Given the description of an element on the screen output the (x, y) to click on. 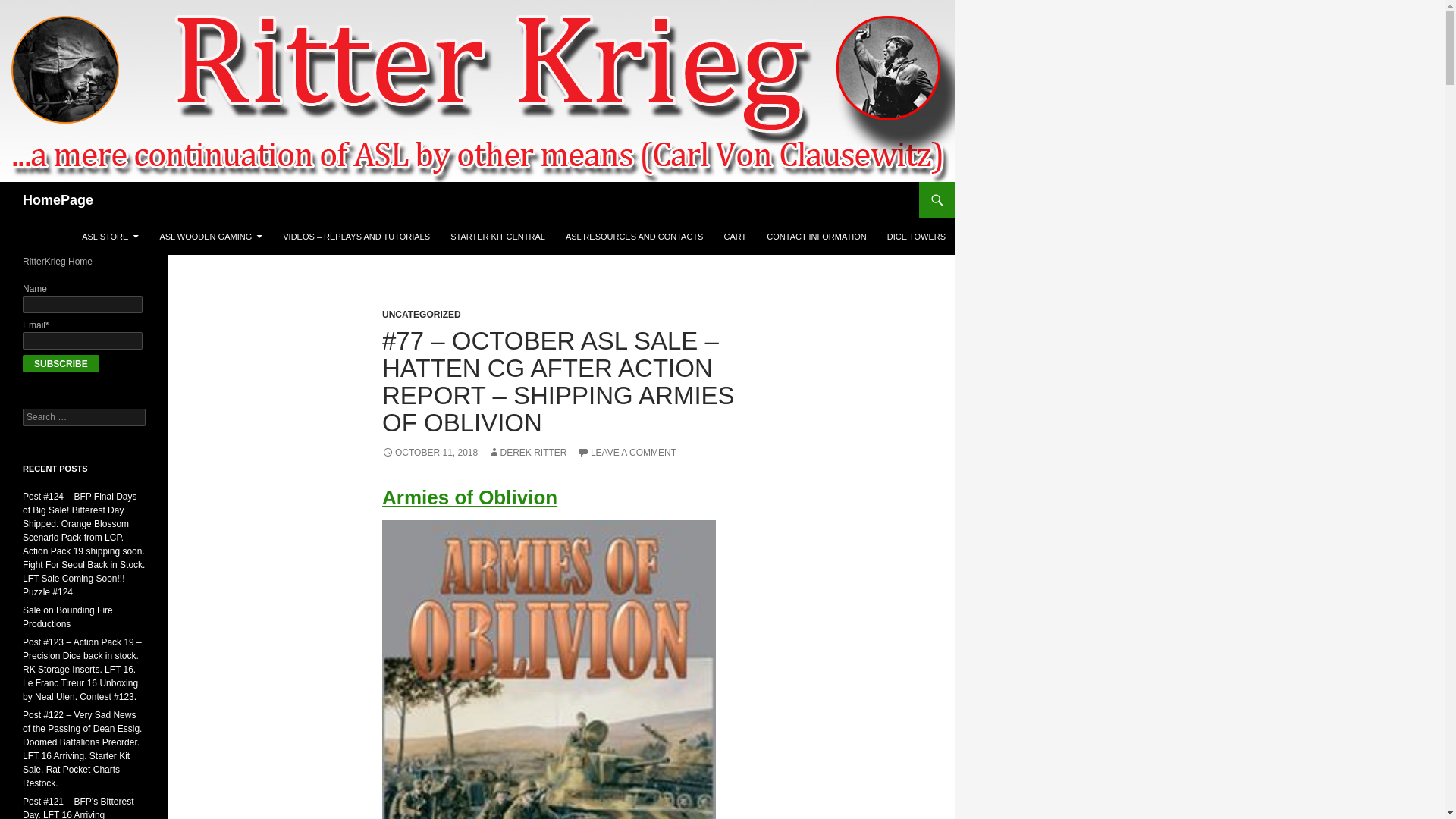
ASL STORE (110, 236)
AoO (548, 669)
Subscribe (61, 363)
HomePage (58, 199)
